Given the description of an element on the screen output the (x, y) to click on. 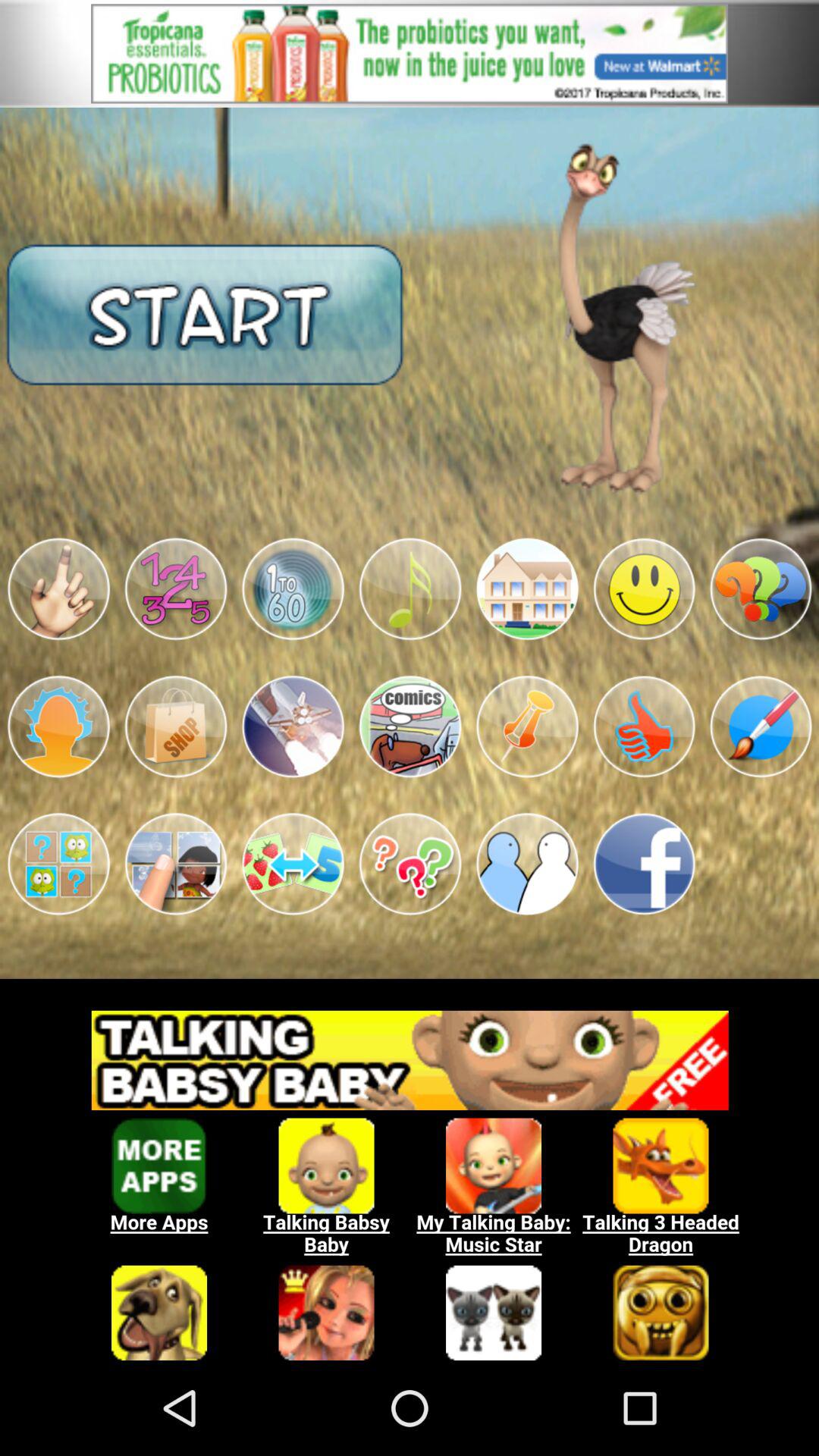
app (409, 726)
